Given the description of an element on the screen output the (x, y) to click on. 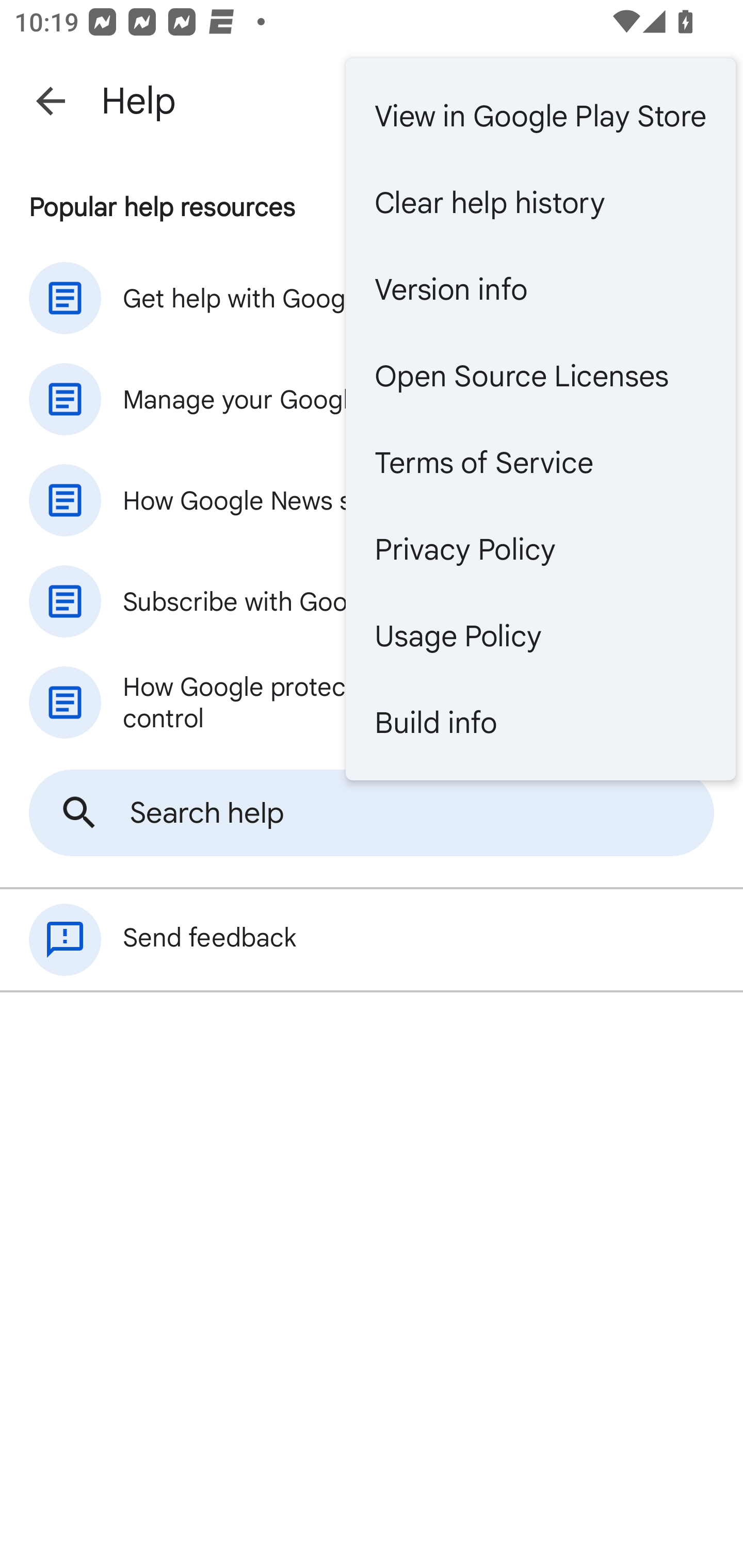
View in Google Play Store (540, 115)
Clear help history (540, 202)
Version info (540, 289)
Open Source Licenses (540, 375)
Terms of Service (540, 462)
Privacy Policy (540, 549)
Usage Policy (540, 635)
Build info (540, 721)
